Given the description of an element on the screen output the (x, y) to click on. 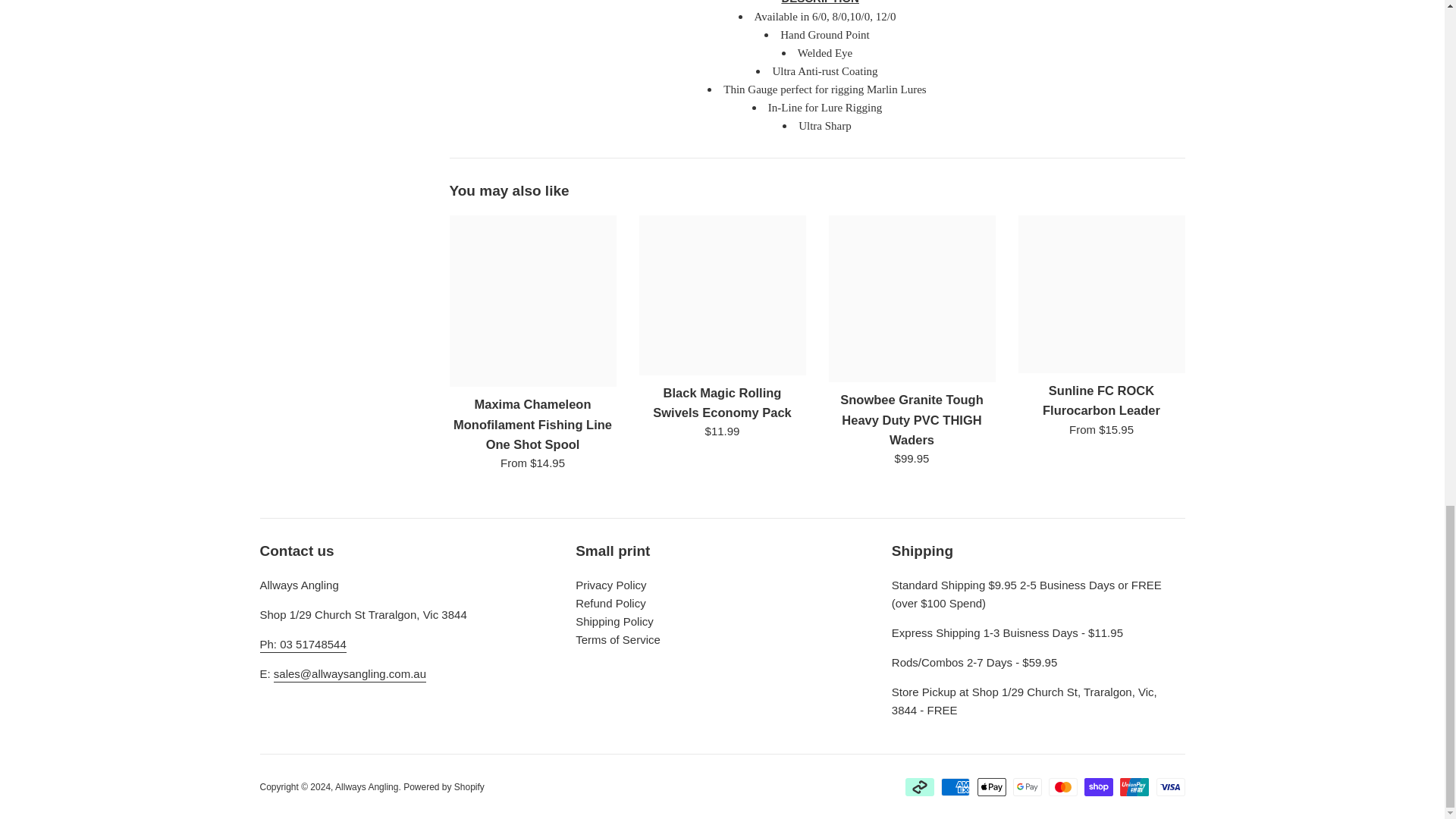
Apple Pay (991, 787)
Snowbee Granite Tough Heavy Duty PVC THIGH Waders (911, 298)
Mastercard (1062, 787)
Sunline FC ROCK Flurocarbon Leader (1101, 294)
Black Magic Rolling Swivels Economy Pack (722, 294)
Afterpay (919, 787)
Google Pay (1027, 787)
Visa (1170, 787)
American Express (954, 787)
Shop Pay (1098, 787)
Union Pay (1133, 787)
Maxima Chameleon Monofilament Fishing Line One Shot Spool (531, 300)
tel:0351748544 (302, 645)
